Given the description of an element on the screen output the (x, y) to click on. 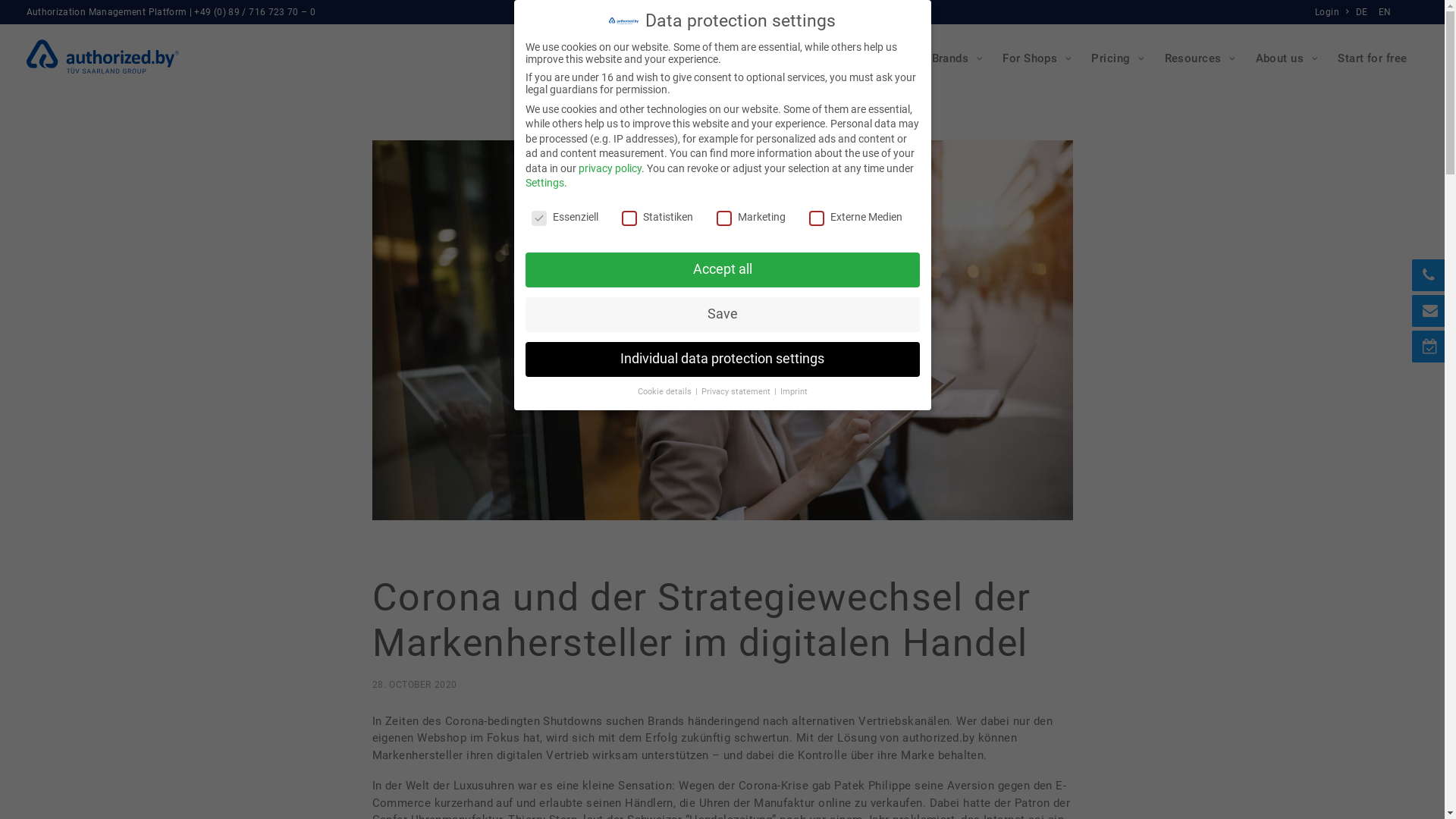
Cookie details Element type: text (665, 391)
Save Element type: text (721, 314)
EN Element type: text (1382, 12)
About us Element type: text (1285, 58)
Privacy statement Element type: text (735, 391)
privacy policy Element type: text (608, 168)
Pricing Element type: text (1115, 58)
Imprint Element type: text (792, 391)
Start for free Element type: text (1372, 58)
Login Element type: text (1333, 12)
Individual data protection settings Element type: text (721, 359)
For Shops Element type: text (1035, 58)
For Brands Element type: text (945, 58)
Resources Element type: text (1198, 58)
Accept all Element type: text (721, 269)
DE Element type: text (1363, 12)
Settings Element type: text (543, 182)
